Given the description of an element on the screen output the (x, y) to click on. 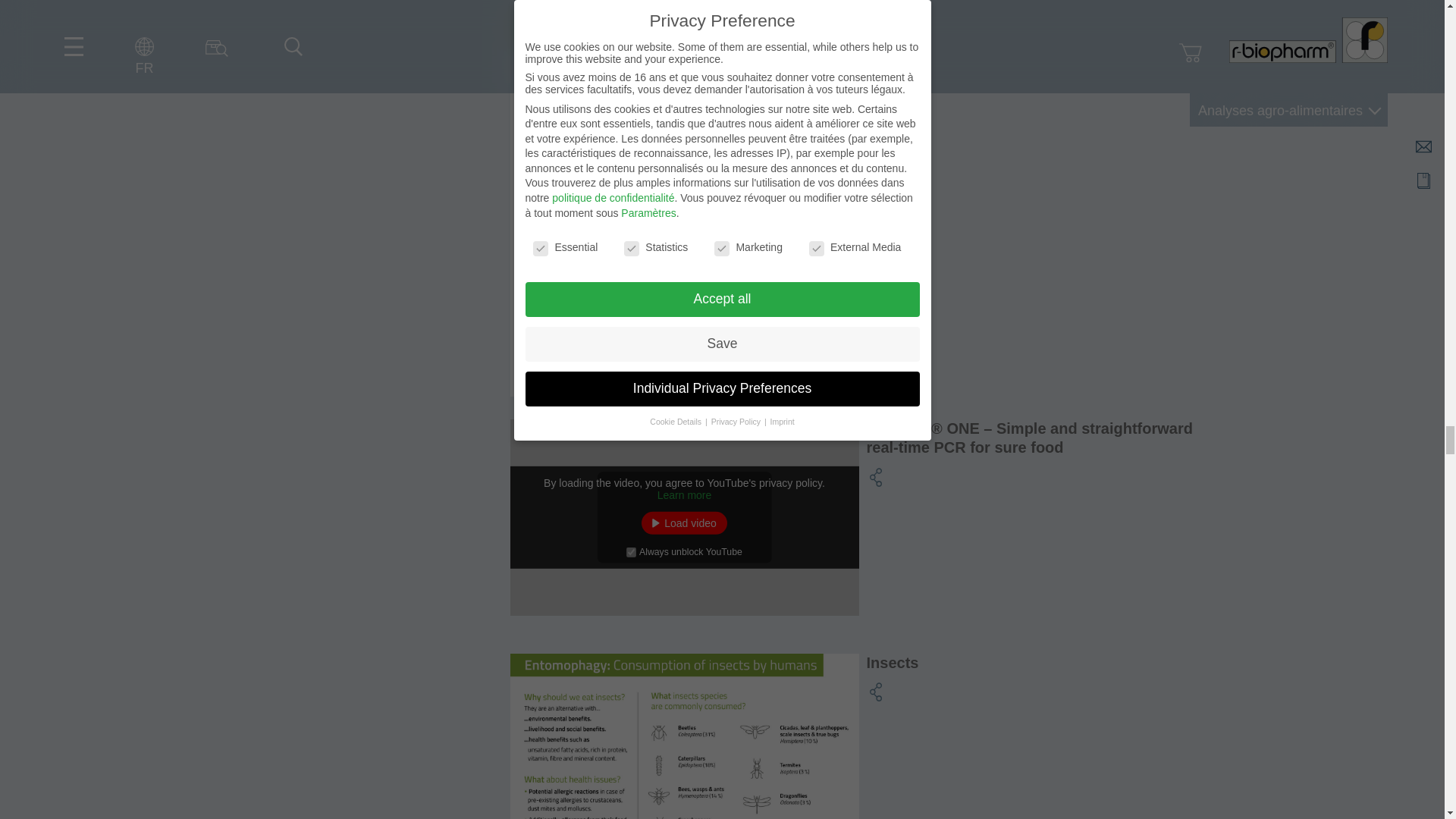
1 (631, 552)
